Given the description of an element on the screen output the (x, y) to click on. 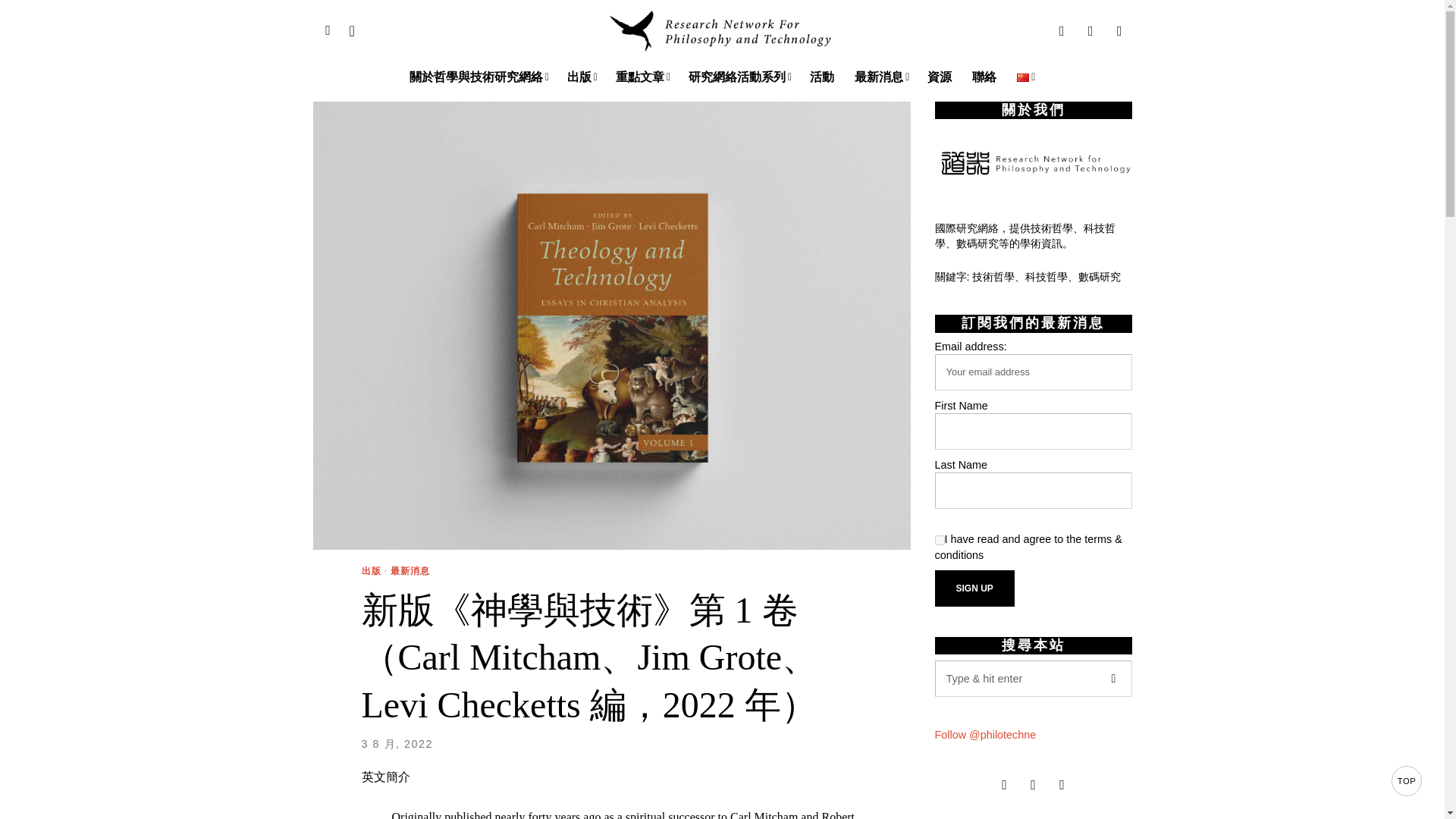
Sign up (973, 588)
TOP (1406, 780)
1 (938, 540)
Go (1112, 678)
